Given the description of an element on the screen output the (x, y) to click on. 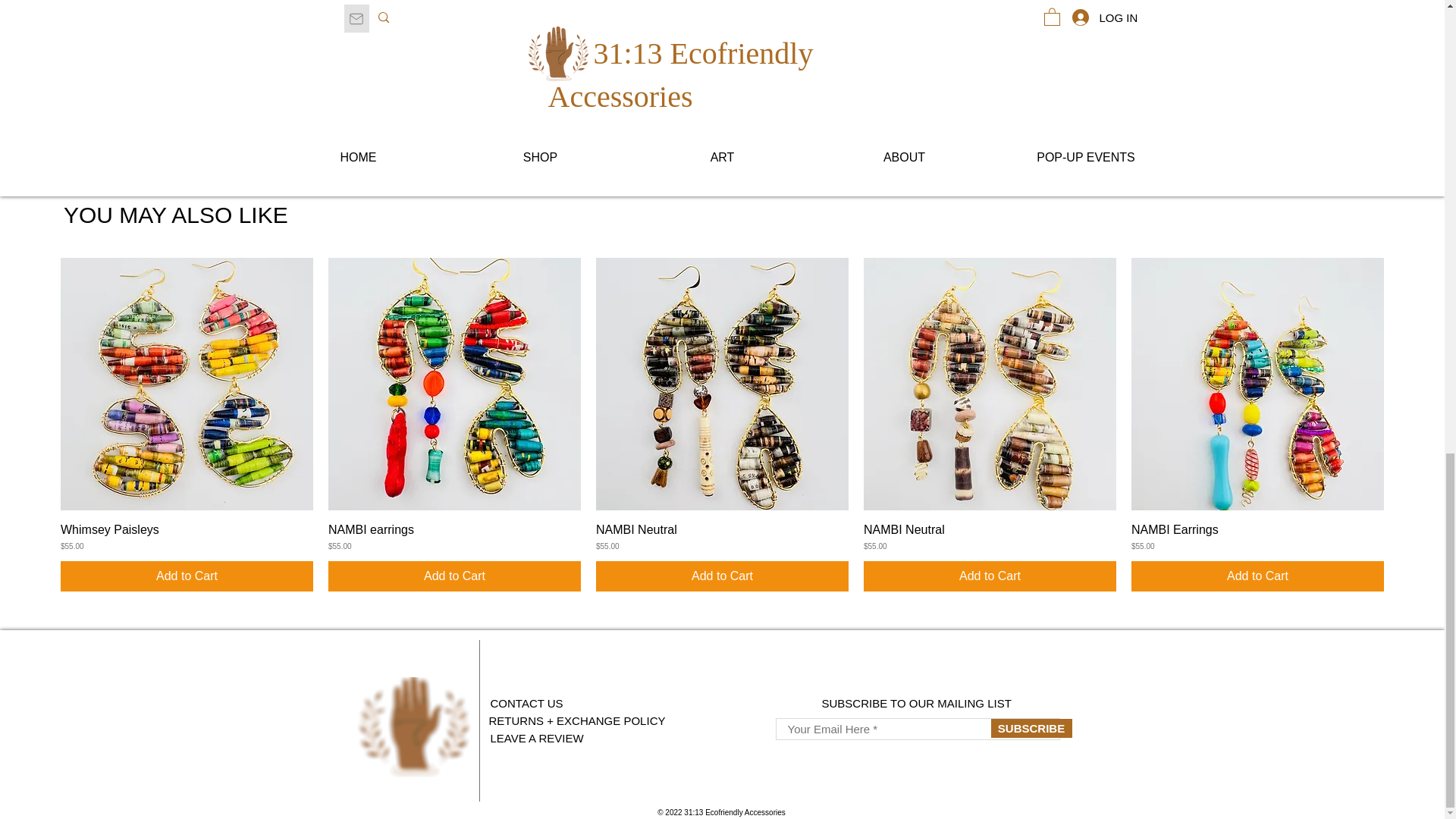
Add to Cart (187, 576)
image1.PNG (413, 727)
Add to Cart (1257, 576)
Add to Cart (721, 576)
Add to Cart (989, 576)
Add to Cart (454, 576)
